Given the description of an element on the screen output the (x, y) to click on. 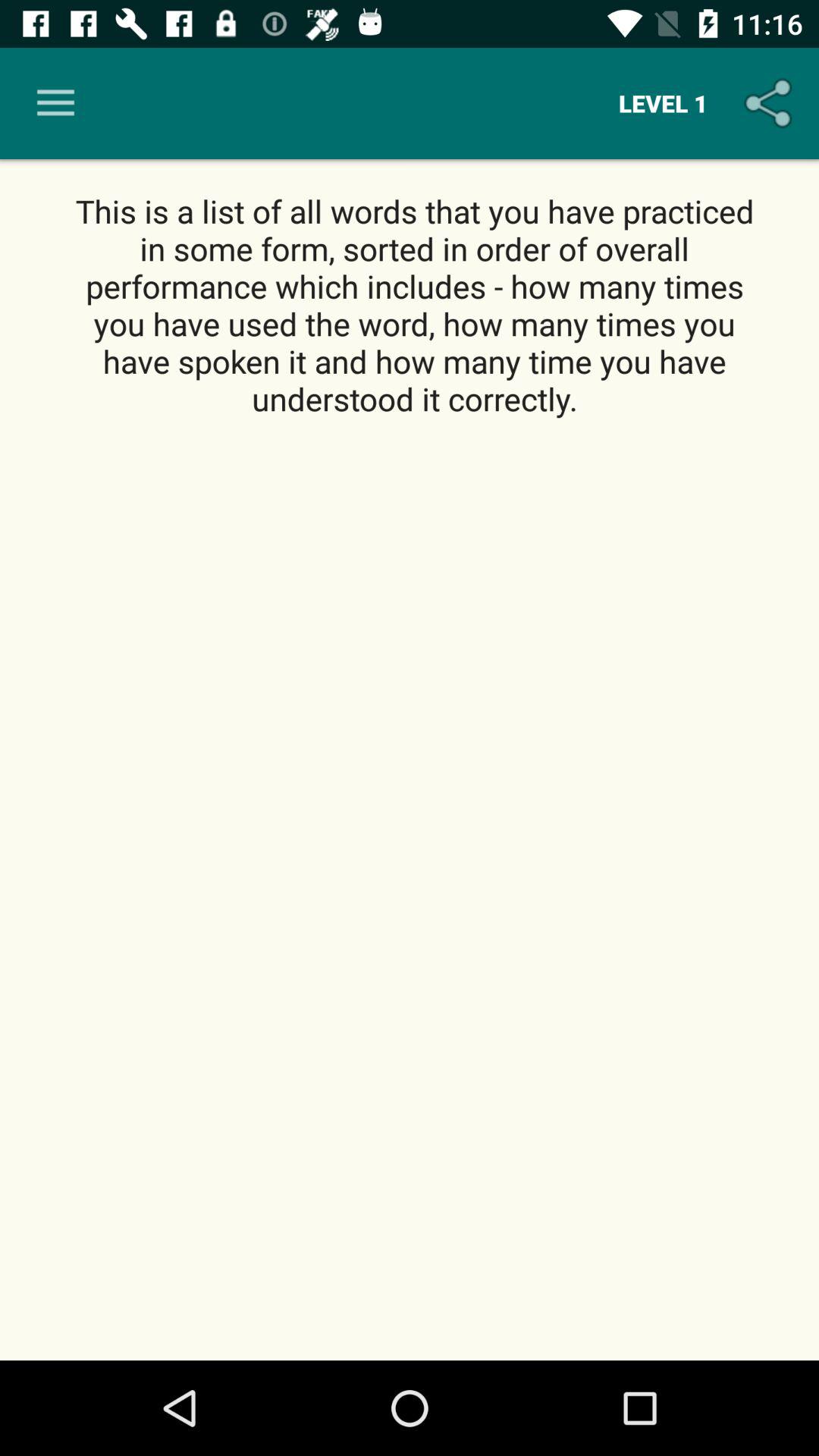
tap the item to the left of level 1 (55, 103)
